Given the description of an element on the screen output the (x, y) to click on. 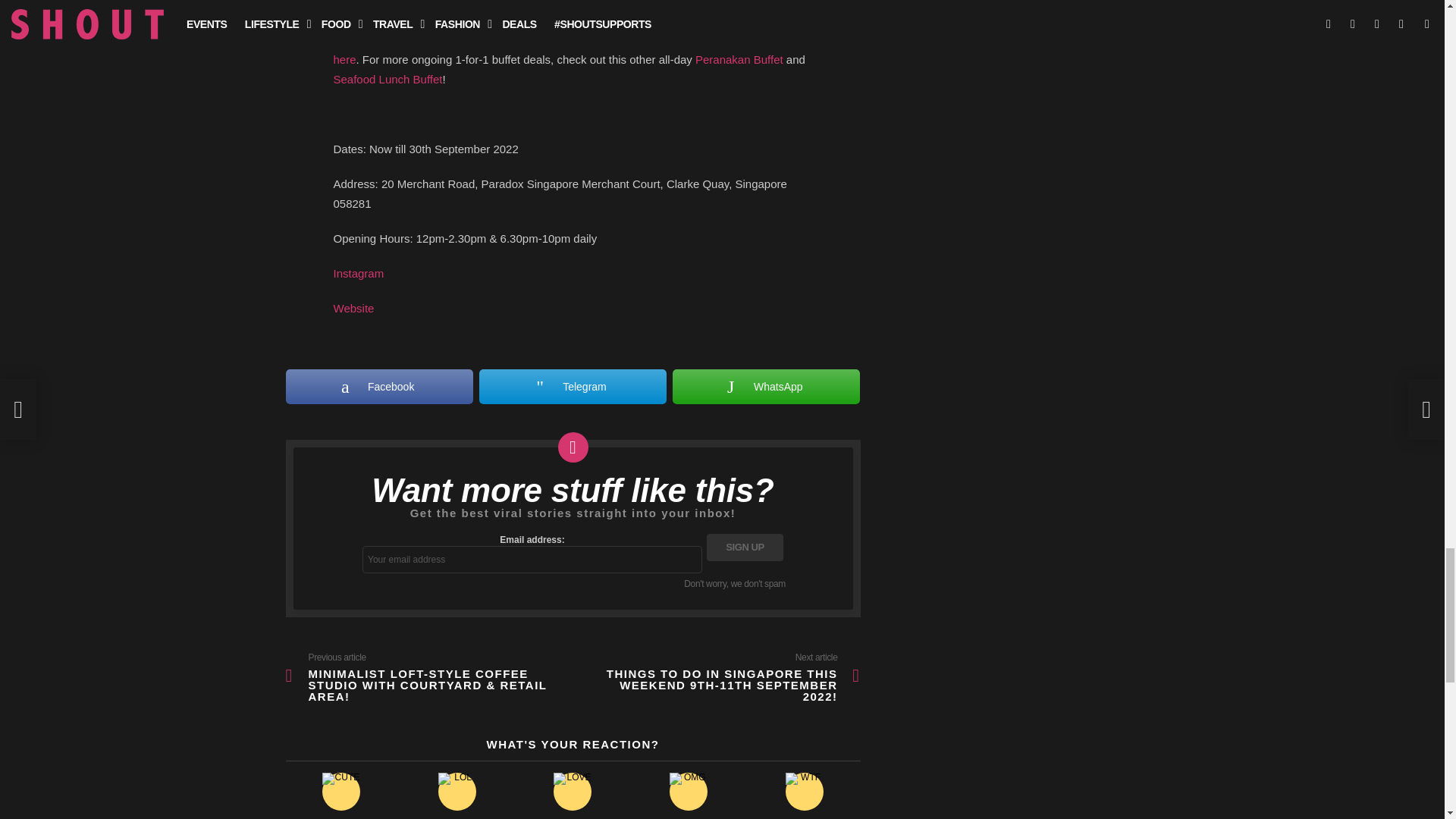
here (344, 59)
Share on Telegram (572, 386)
Share on WhatsApp (766, 386)
Share on Facebook (378, 386)
Sign up (744, 547)
